Given the description of an element on the screen output the (x, y) to click on. 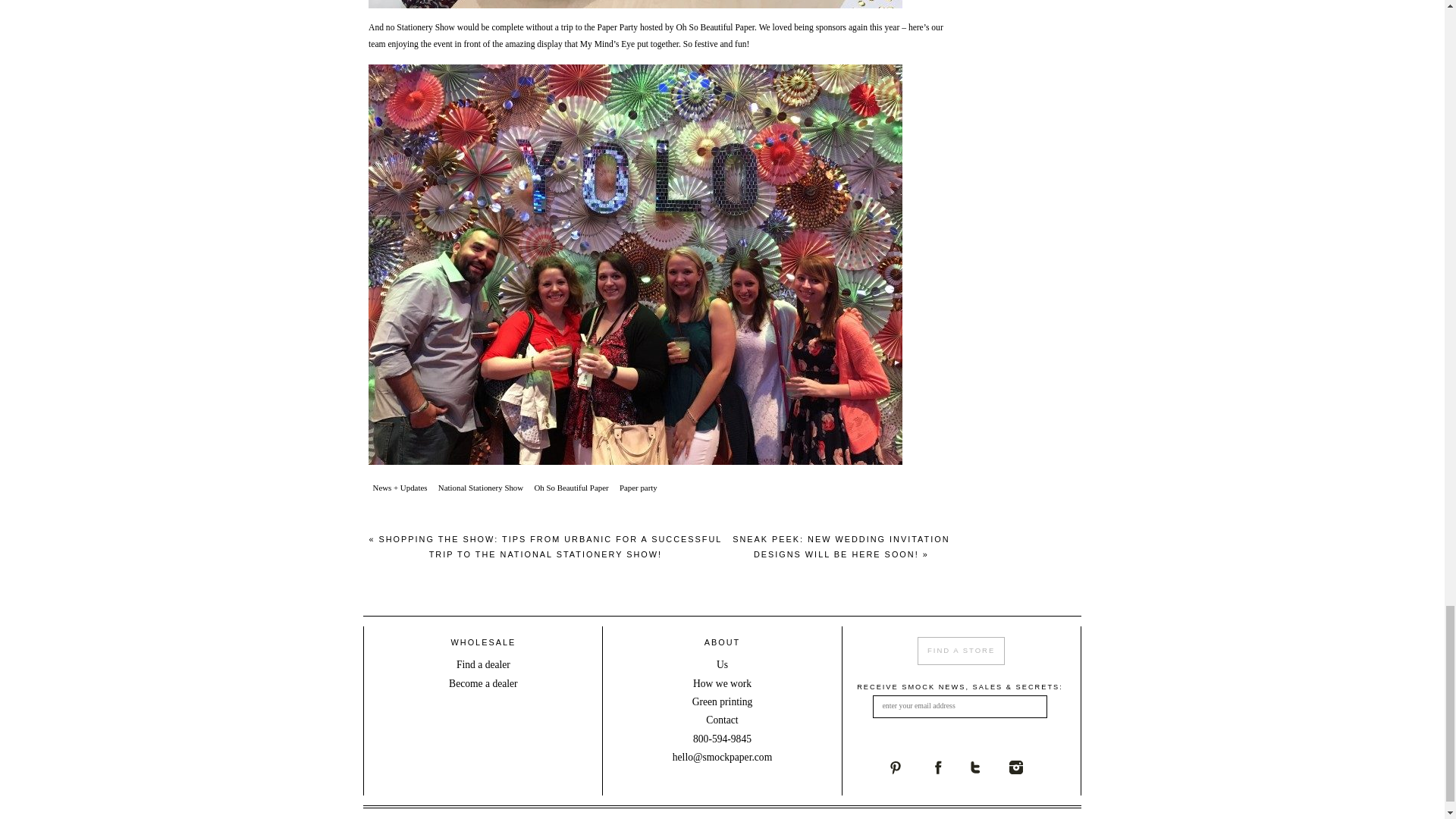
Oh So Beautiful Paper (714, 27)
Our Instagram Feed (1029, 766)
Oh So Beautiful Paper (570, 486)
View all posts tagged with "Paper party" (637, 486)
Our Twitter Feed (989, 766)
National Stationery Show (480, 486)
Our Facebook Page (948, 766)
View all posts tagged with "Oh So Beautiful Paper" (570, 486)
